Given the description of an element on the screen output the (x, y) to click on. 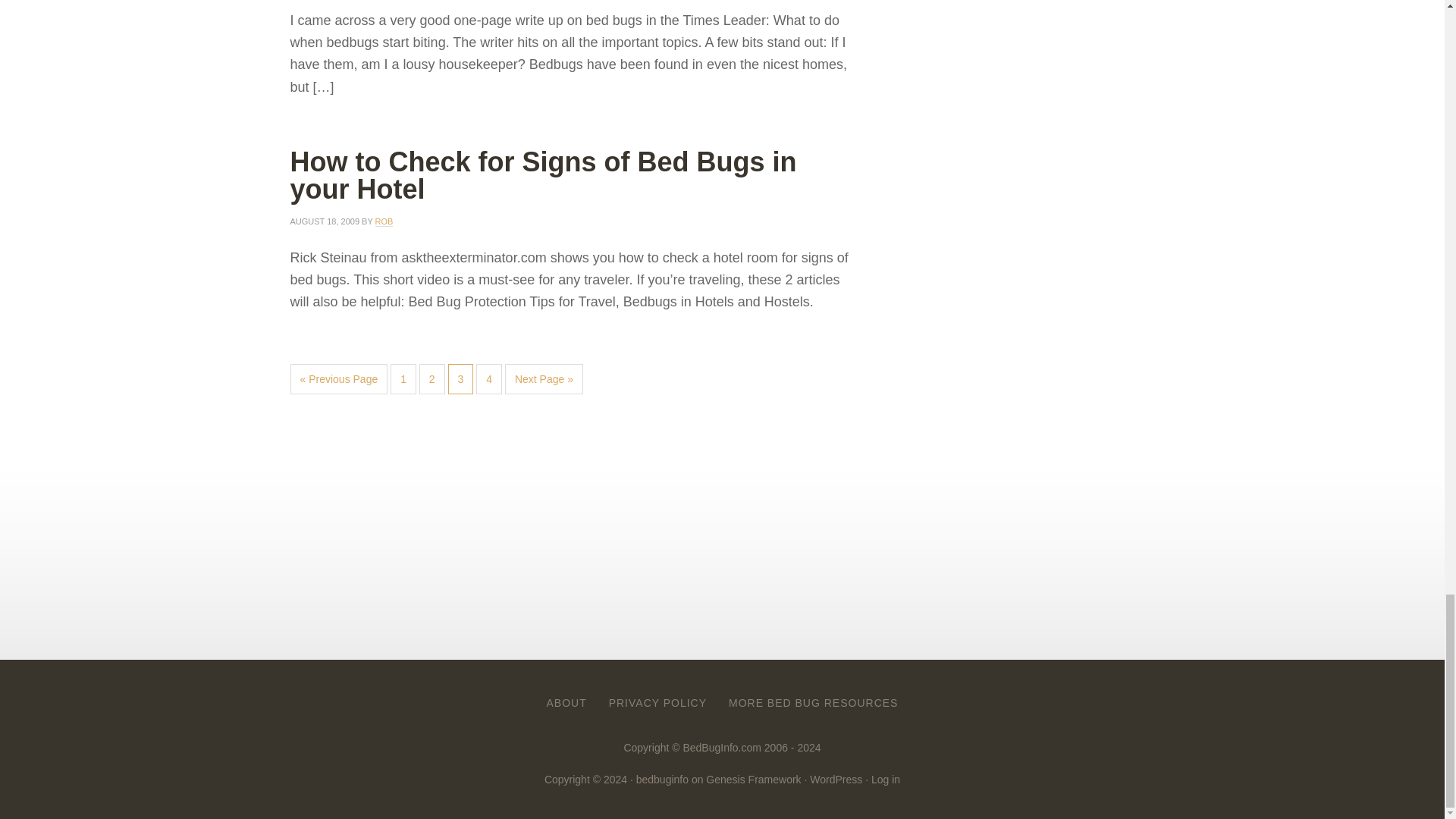
Advertisement (570, 519)
